Given the description of an element on the screen output the (x, y) to click on. 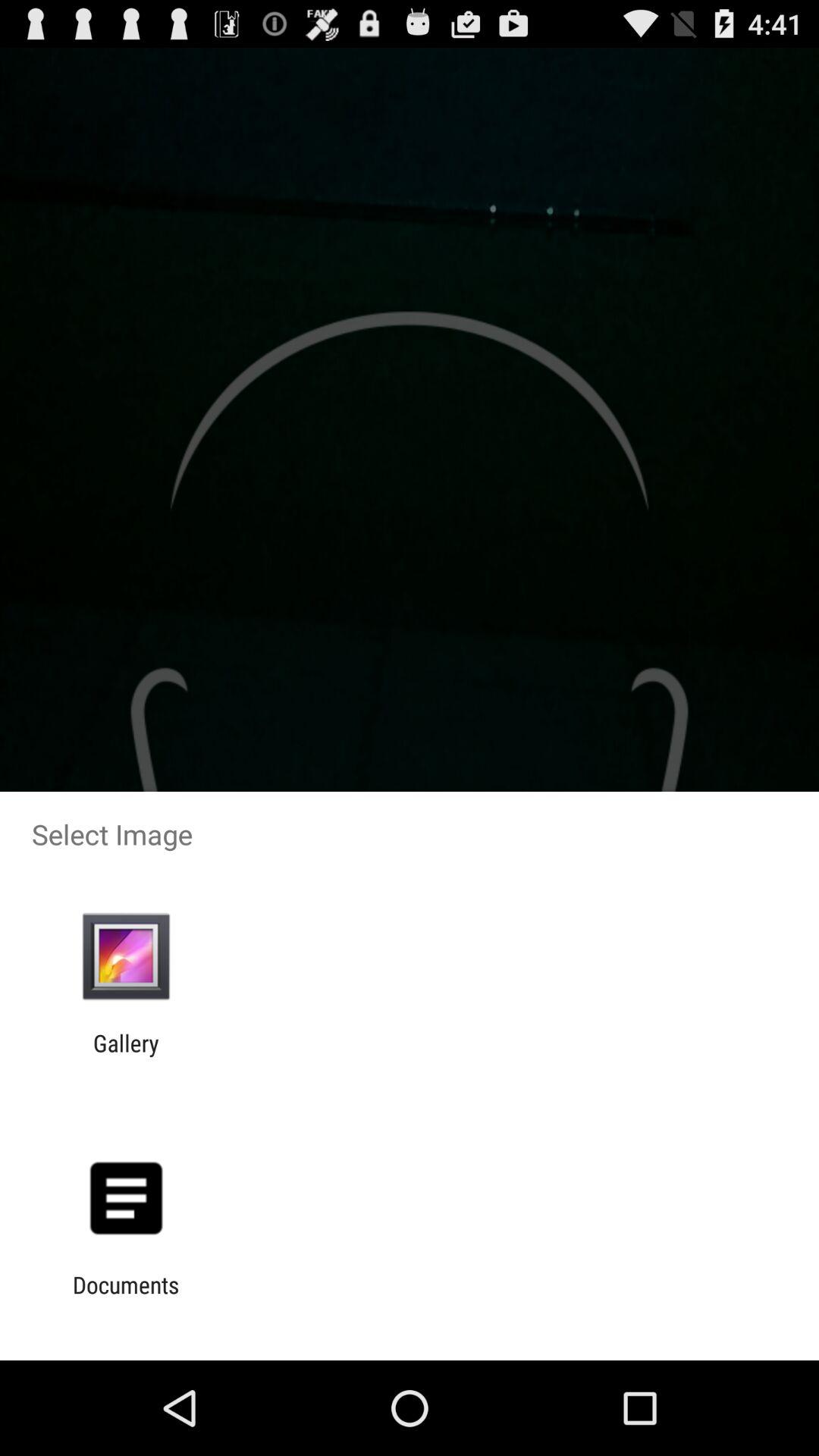
flip until gallery (126, 1056)
